Given the description of an element on the screen output the (x, y) to click on. 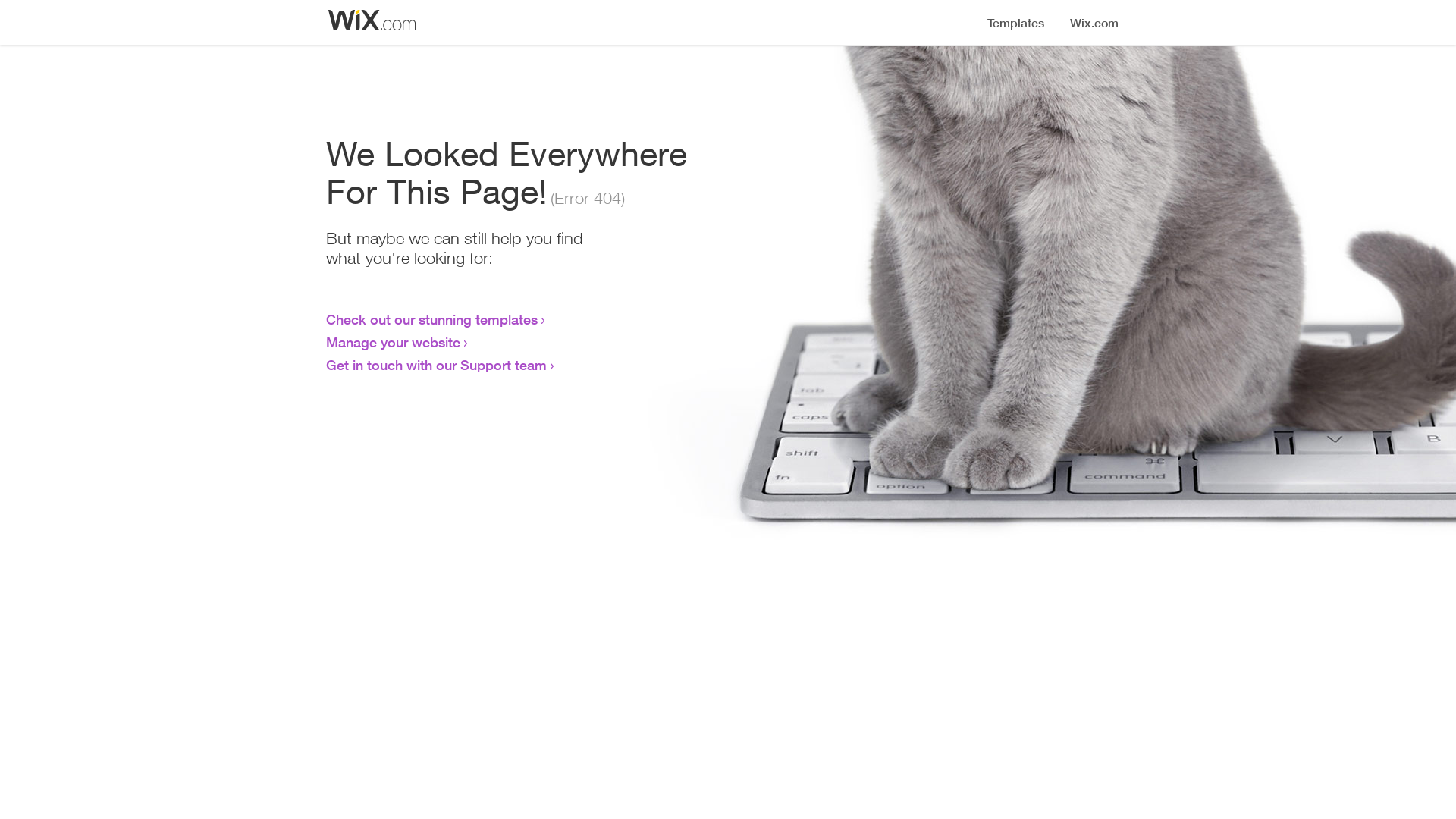
Manage your website Element type: text (393, 341)
Check out our stunning templates Element type: text (431, 318)
Get in touch with our Support team Element type: text (436, 364)
